Given the description of an element on the screen output the (x, y) to click on. 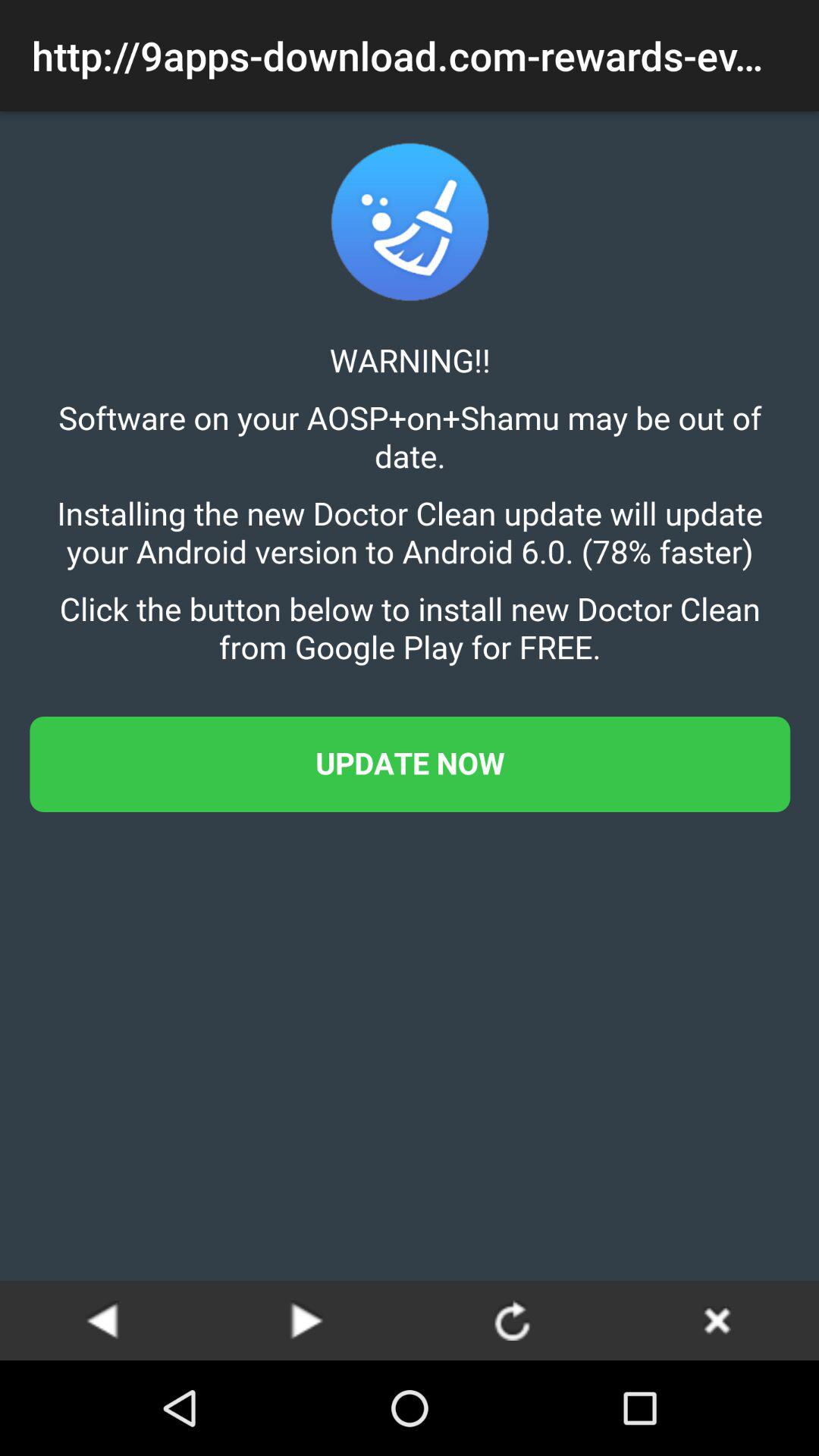
go back (102, 1320)
